Given the description of an element on the screen output the (x, y) to click on. 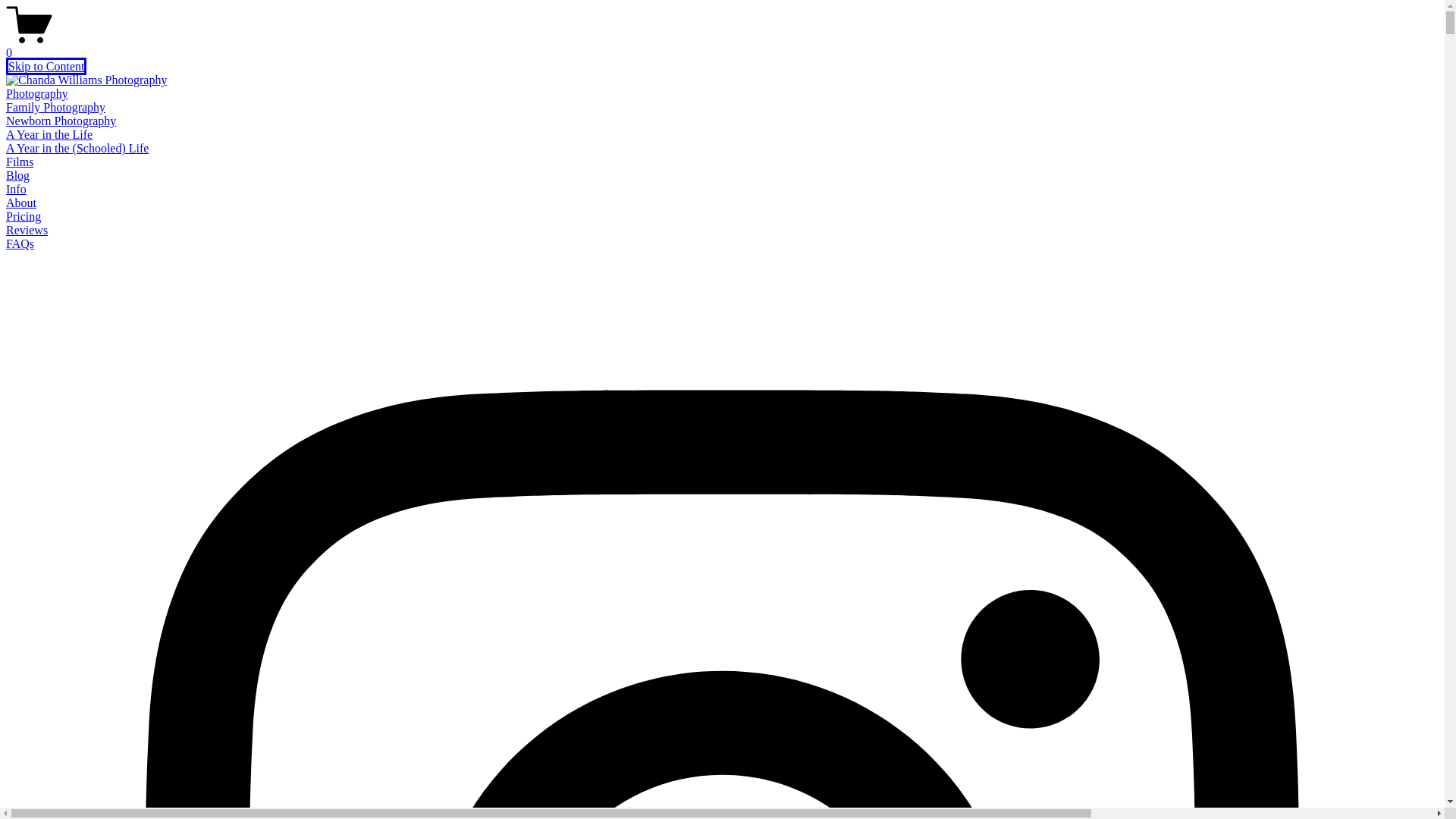
Photography (36, 92)
0 (721, 45)
Family Photography (54, 106)
Blog (17, 174)
FAQs (19, 243)
Newborn Photography (60, 120)
Reviews (26, 229)
Pricing (22, 215)
About (20, 202)
Films (19, 161)
Info (15, 188)
Skip to Content (45, 66)
A Year in the Life (49, 133)
